Given the description of an element on the screen output the (x, y) to click on. 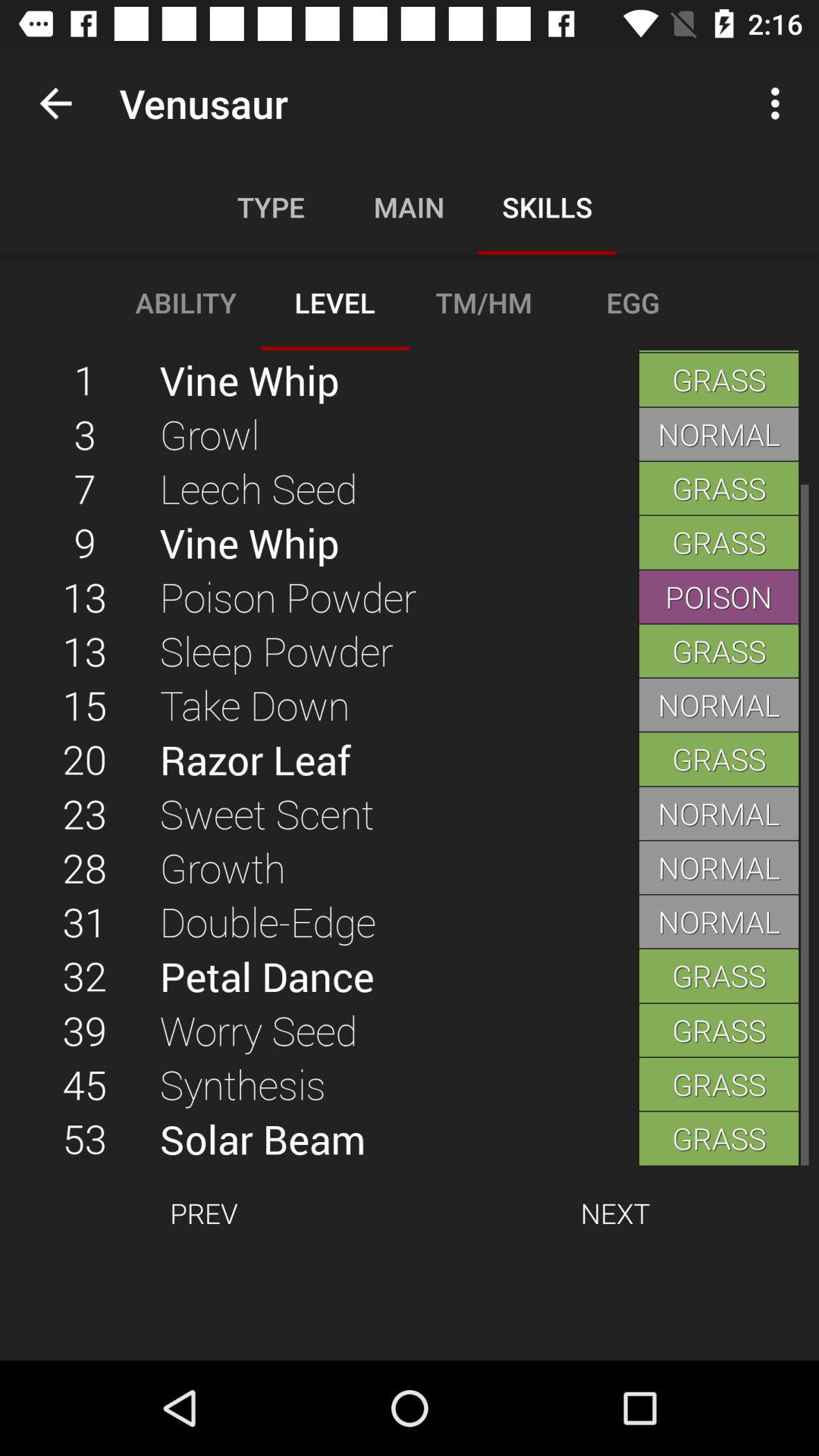
launch icon below 13 item (399, 650)
